Given the description of an element on the screen output the (x, y) to click on. 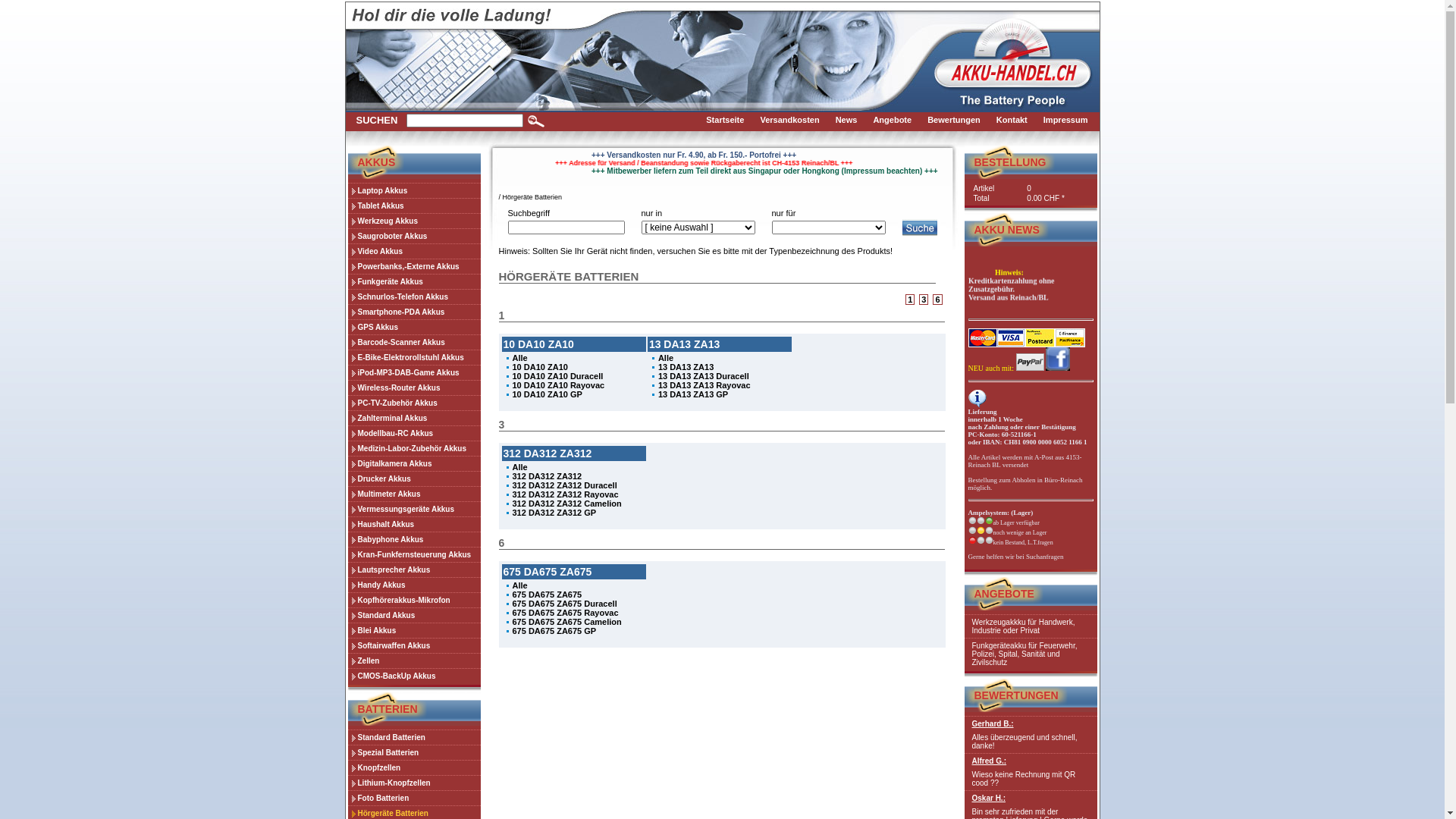
675 DA675 ZA675 Element type: text (547, 594)
Suchen Element type: hover (536, 121)
Alle Element type: text (665, 357)
Alle Element type: text (519, 584)
675 DA675 ZA675 GP Element type: text (554, 630)
Haushalt Akkus Element type: text (413, 523)
Schnurlos-Telefon Akkus Element type: text (413, 296)
Impressum Element type: text (1069, 121)
CMOS-BackUp Akkus Element type: text (413, 675)
Standard Batterien Element type: text (413, 736)
Zahlterminal Akkus Element type: text (413, 417)
Alfred G.:
Wieso keine Rechnung mit QR cood ?? Element type: text (1030, 771)
Suchbegriff Element type: hover (464, 120)
312 DA312 ZA312 Rayovac Element type: text (565, 493)
Versandkosten Element type: text (793, 121)
Suchen Element type: hover (921, 227)
News Element type: text (850, 121)
BEWERTUNGEN Element type: text (1015, 695)
10 DA10 ZA10 Element type: text (539, 366)
Wireless-Router Akkus Element type: text (413, 387)
Knopfzellen Element type: text (413, 767)
Video Akkus Element type: text (413, 250)
1 Element type: text (909, 299)
Digitalkamera Akkus Element type: text (413, 462)
675 DA675 ZA675 Camelion Element type: text (566, 621)
10 DA10 ZA10 GP Element type: text (547, 393)
312 DA312 ZA312 Element type: text (547, 475)
Akku-handel zur Startseite Element type: hover (1012, 66)
Babyphone Akkus Element type: text (413, 538)
Kontakt Element type: text (1015, 121)
Smartphone-PDA Akkus Element type: text (413, 311)
312 DA312 ZA312 Duracell Element type: text (564, 484)
Foto Batterien Element type: text (413, 797)
Suchbegriff Element type: hover (566, 227)
SUCHEN Element type: text (377, 119)
3 Element type: text (923, 299)
Angebote Element type: text (896, 121)
13 DA13 ZA13 Duracell Element type: text (703, 375)
Startseite Element type: text (729, 121)
Alle Element type: text (519, 357)
13 DA13 ZA13 Rayovac Element type: text (704, 384)
ANGEBOTE Element type: text (1003, 593)
E-Bike-Elektrorollstuhl Akkus Element type: text (413, 356)
Saugroboter Akkus Element type: text (413, 235)
10 DA10 ZA10 Rayovac Element type: text (558, 384)
Blei Akkus Element type: text (413, 629)
Powerbanks,-Externe Akkus Element type: text (413, 265)
Multimeter Akkus Element type: text (413, 493)
13 DA13 ZA13 Element type: text (685, 366)
Alle Element type: text (519, 466)
312 DA312 ZA312 Camelion Element type: text (566, 503)
Modellbau-RC Akkus Element type: text (413, 432)
Spezial Batterien Element type: text (413, 751)
312 DA312 ZA312 GP Element type: text (554, 512)
13 DA13 ZA13 GP Element type: text (693, 393)
Laptop Akkus Element type: text (413, 189)
Tablet Akkus Element type: text (413, 205)
Drucker Akkus Element type: text (413, 478)
Werkzeug Akkus Element type: text (413, 220)
Lithium-Knopfzellen Element type: text (413, 782)
Kran-Funkfernsteuerung Akkus Element type: text (413, 553)
6 Element type: text (937, 299)
Handy Akkus Element type: text (413, 584)
Softairwaffen Akkus Element type: text (413, 644)
675 DA675 ZA675 Duracell Element type: text (564, 603)
iPod-MP3-DAB-Game Akkus Element type: text (413, 371)
Zellen Element type: text (413, 660)
Standard Akkus Element type: text (413, 614)
Barcode-Scanner Akkus Element type: text (413, 341)
675 DA675 ZA675 Rayovac Element type: text (565, 612)
Bewertungen Element type: text (957, 121)
10 DA10 ZA10 Duracell Element type: text (557, 375)
Lautsprecher Akkus Element type: text (413, 569)
GPS Akkus Element type: text (413, 326)
